Given the description of an element on the screen output the (x, y) to click on. 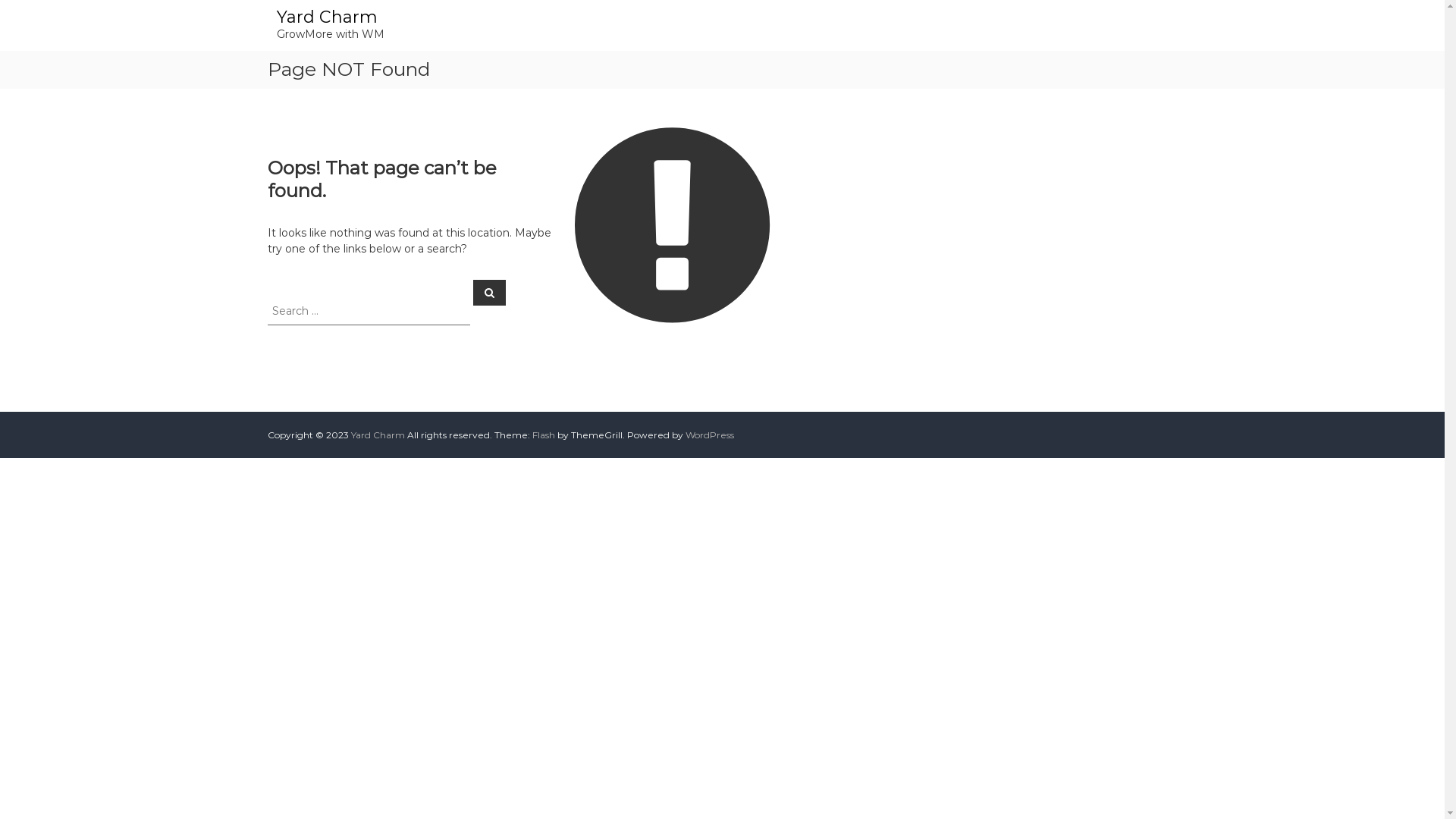
Yard Charm Element type: text (326, 16)
WordPress Element type: text (709, 434)
Yard Charm Element type: text (377, 434)
Search Element type: text (489, 291)
Flash Element type: text (543, 434)
